Given the description of an element on the screen output the (x, y) to click on. 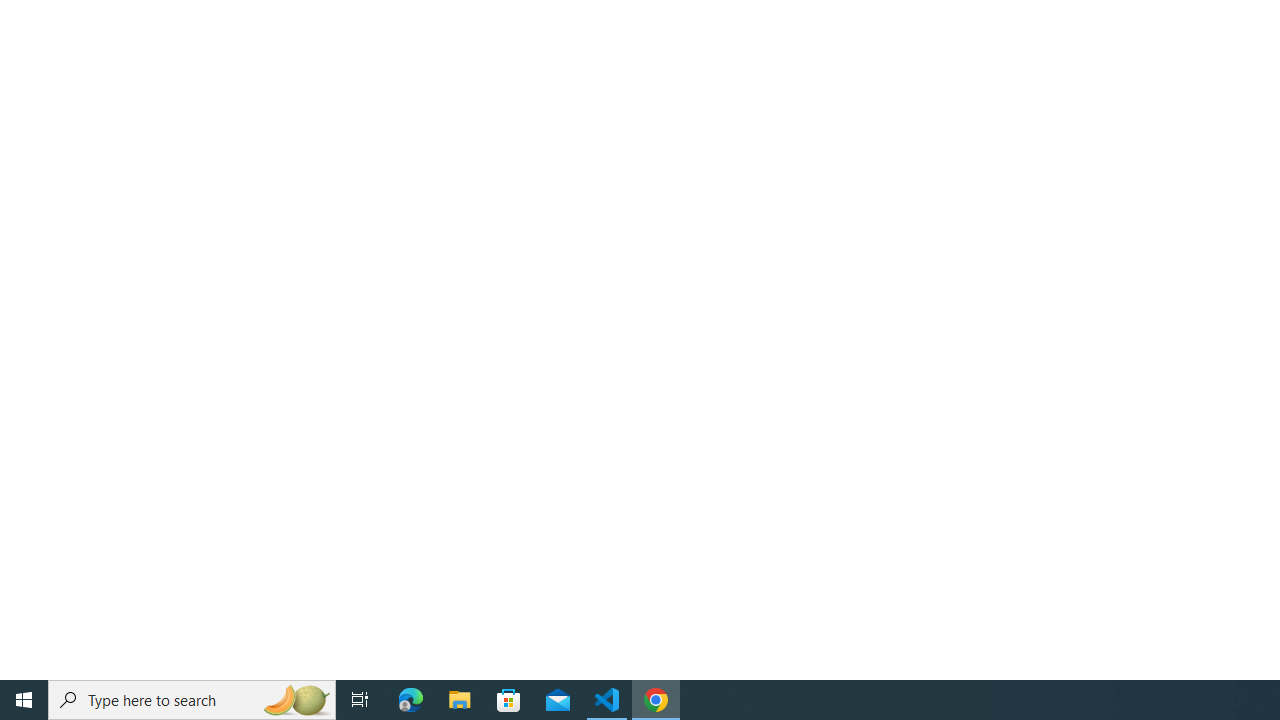
Type here to search (191, 699)
Task View (359, 699)
Search highlights icon opens search home window (295, 699)
Start (24, 699)
Microsoft Edge (411, 699)
Google Chrome - 1 running window (656, 699)
Visual Studio Code - 1 running window (607, 699)
File Explorer (460, 699)
Microsoft Store (509, 699)
